Given the description of an element on the screen output the (x, y) to click on. 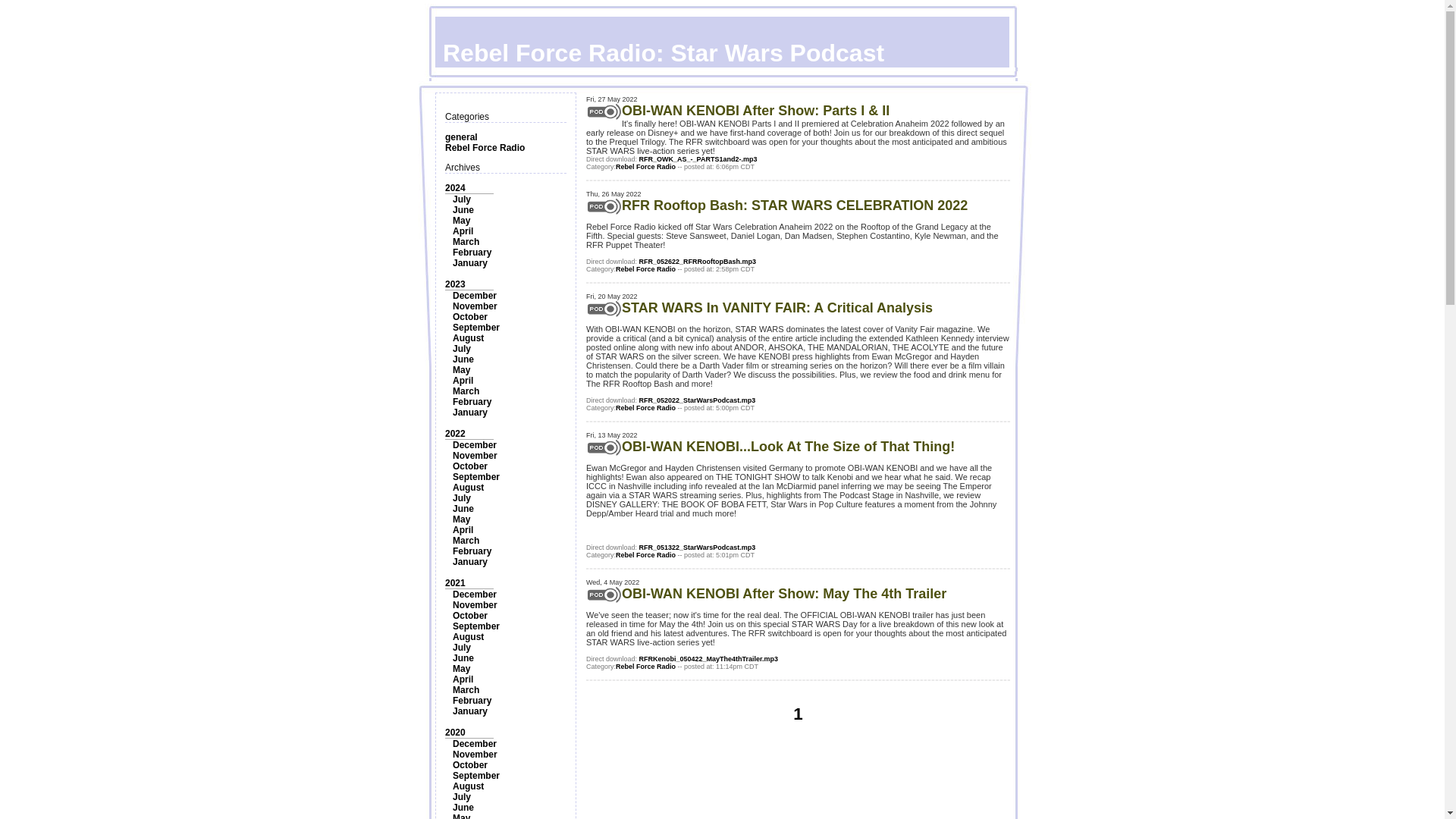
Rebel Force Radio (484, 147)
June (463, 358)
October (469, 466)
April (462, 380)
2021 (455, 583)
July (461, 348)
January (469, 262)
May (461, 220)
April (462, 529)
general (461, 136)
December (474, 593)
May (461, 369)
August (467, 337)
March (465, 241)
2022 (455, 433)
